Given the description of an element on the screen output the (x, y) to click on. 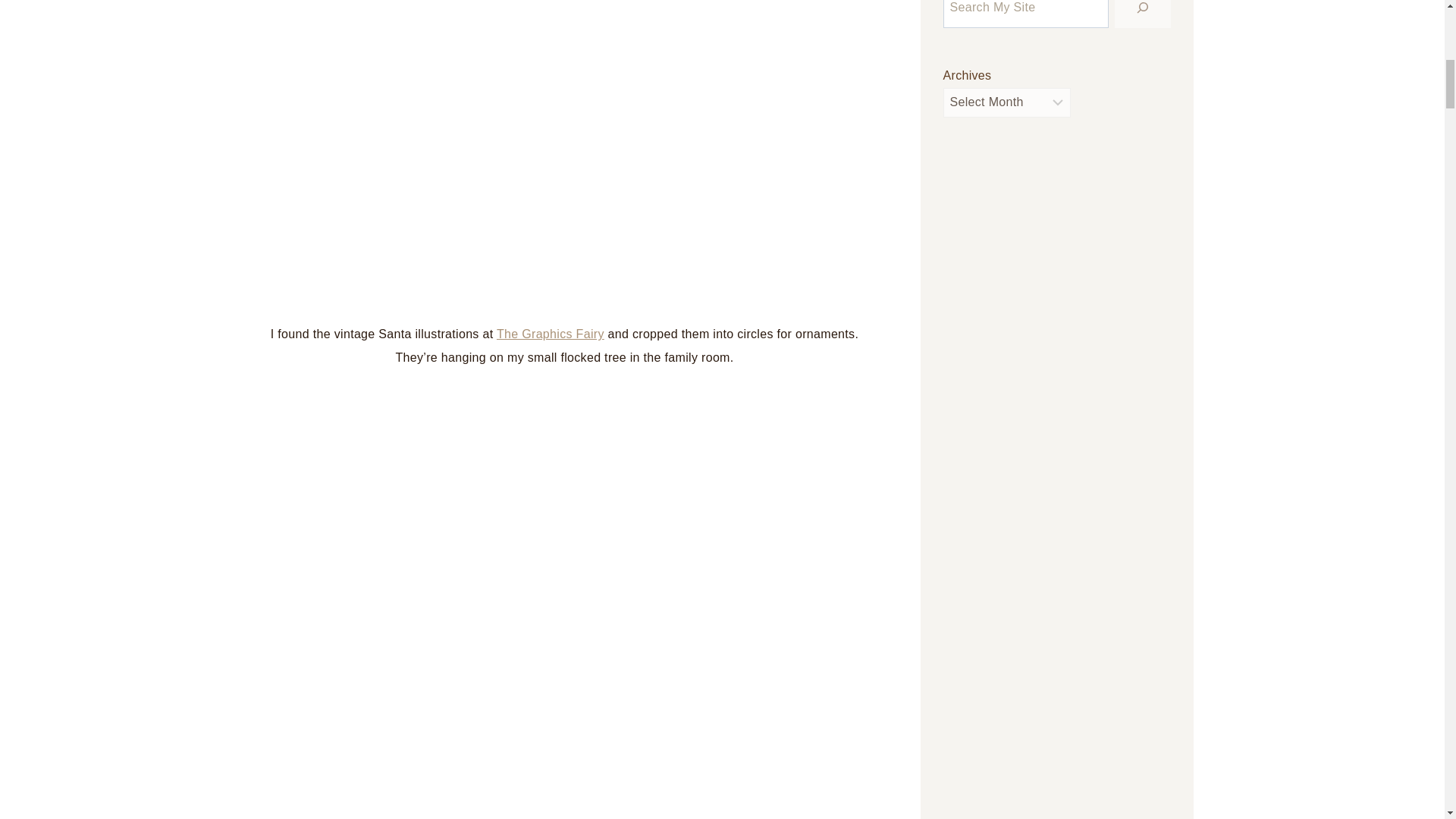
SiteLock (1056, 511)
